Given the description of an element on the screen output the (x, y) to click on. 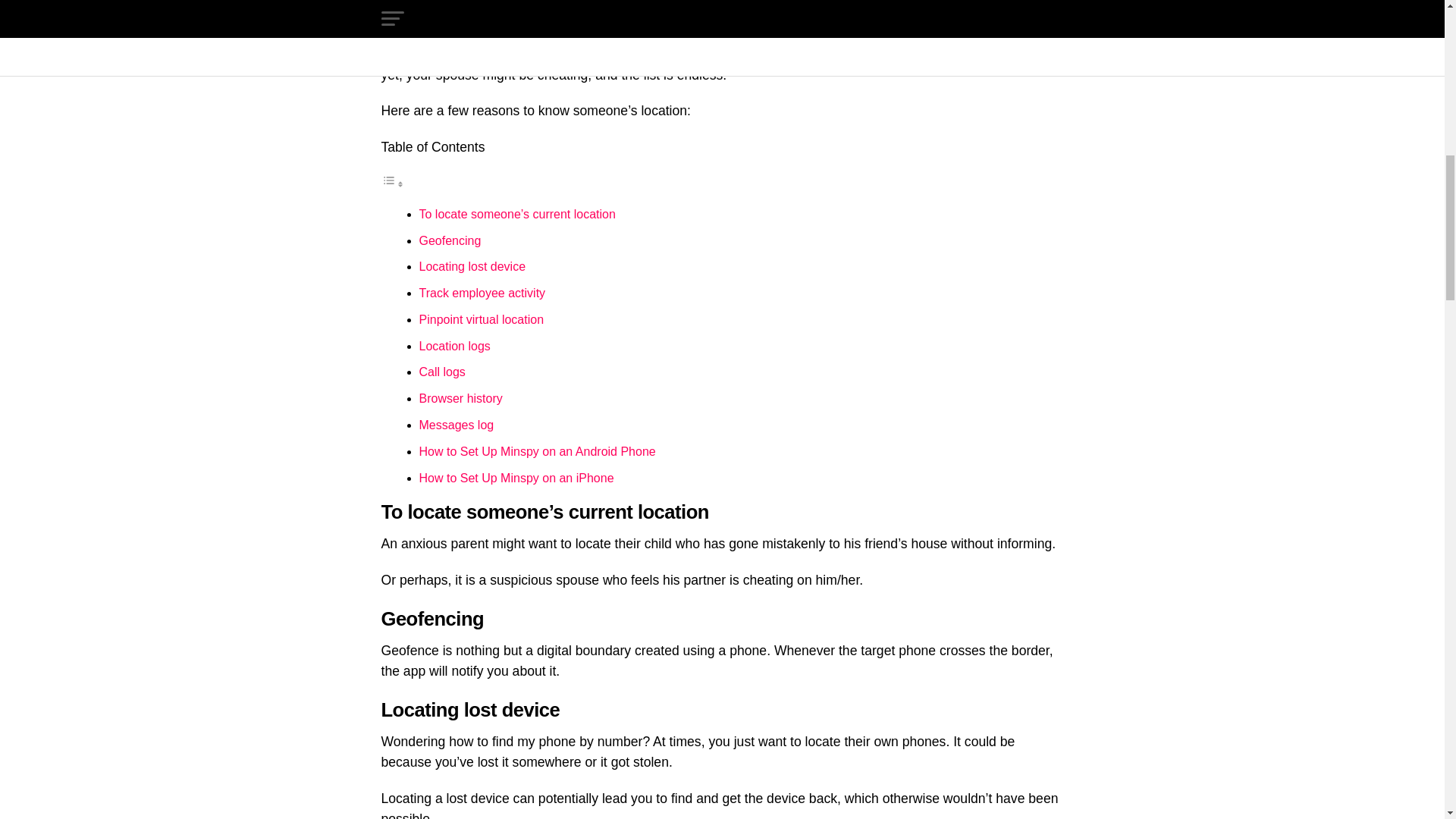
Call logs (441, 371)
Geofencing (449, 239)
Pinpoint virtual location (481, 318)
Geofencing (449, 239)
How to Set Up Minspy on an iPhone (515, 477)
How to Set Up Minspy on an Android Phone (537, 451)
Messages log (456, 424)
Call logs (441, 371)
Locating lost device (472, 266)
Browser history (460, 398)
